Given the description of an element on the screen output the (x, y) to click on. 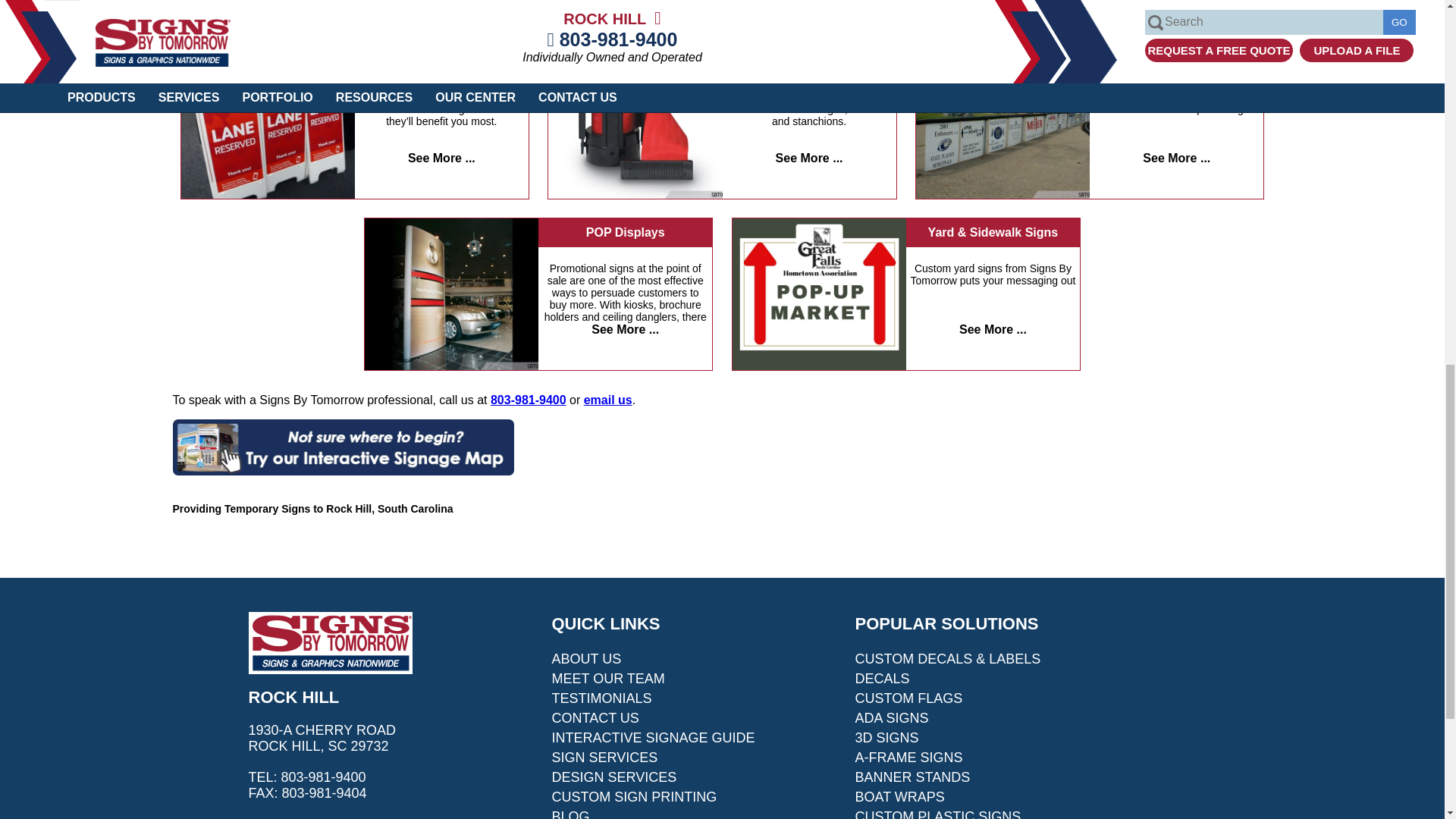
See More ... (992, 329)
INTERACTIVE SIGNAGE GUIDE (653, 737)
803-981-9400 (528, 399)
POP Displays (624, 232)
youtube (334, 816)
ABOUT US (586, 658)
Linked In (298, 816)
TESTIMONIALS (601, 698)
CONTACT US (595, 717)
email us (607, 399)
